Given the description of an element on the screen output the (x, y) to click on. 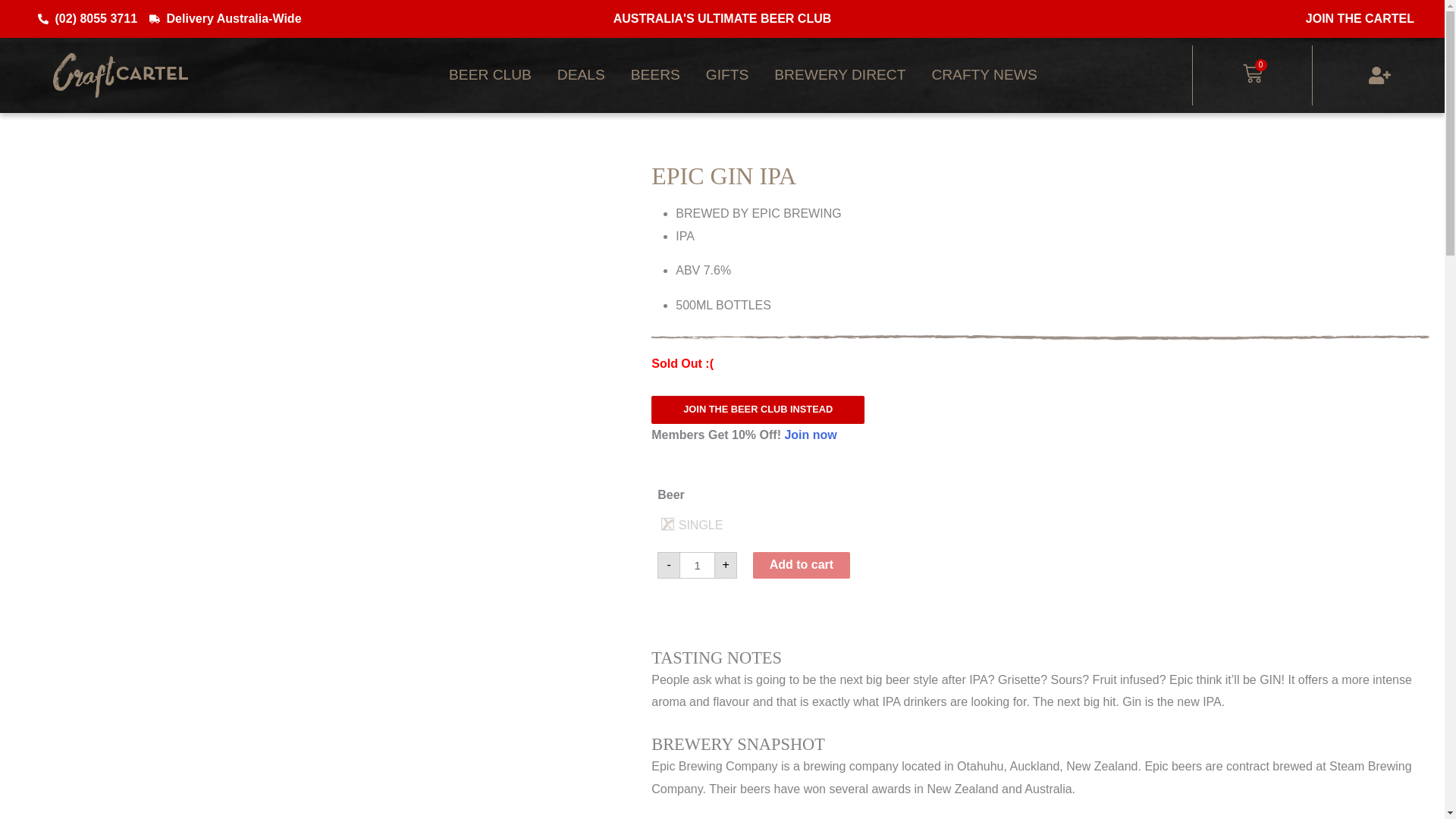
BREWERY DIRECT (839, 74)
Qty (696, 565)
CRAFTY NEWS (983, 74)
BEERS (655, 74)
JOIN THE CARTEL (1359, 18)
BEER CLUB (489, 74)
GIFTS (727, 74)
DEALS (580, 74)
1 (696, 565)
